Given the description of an element on the screen output the (x, y) to click on. 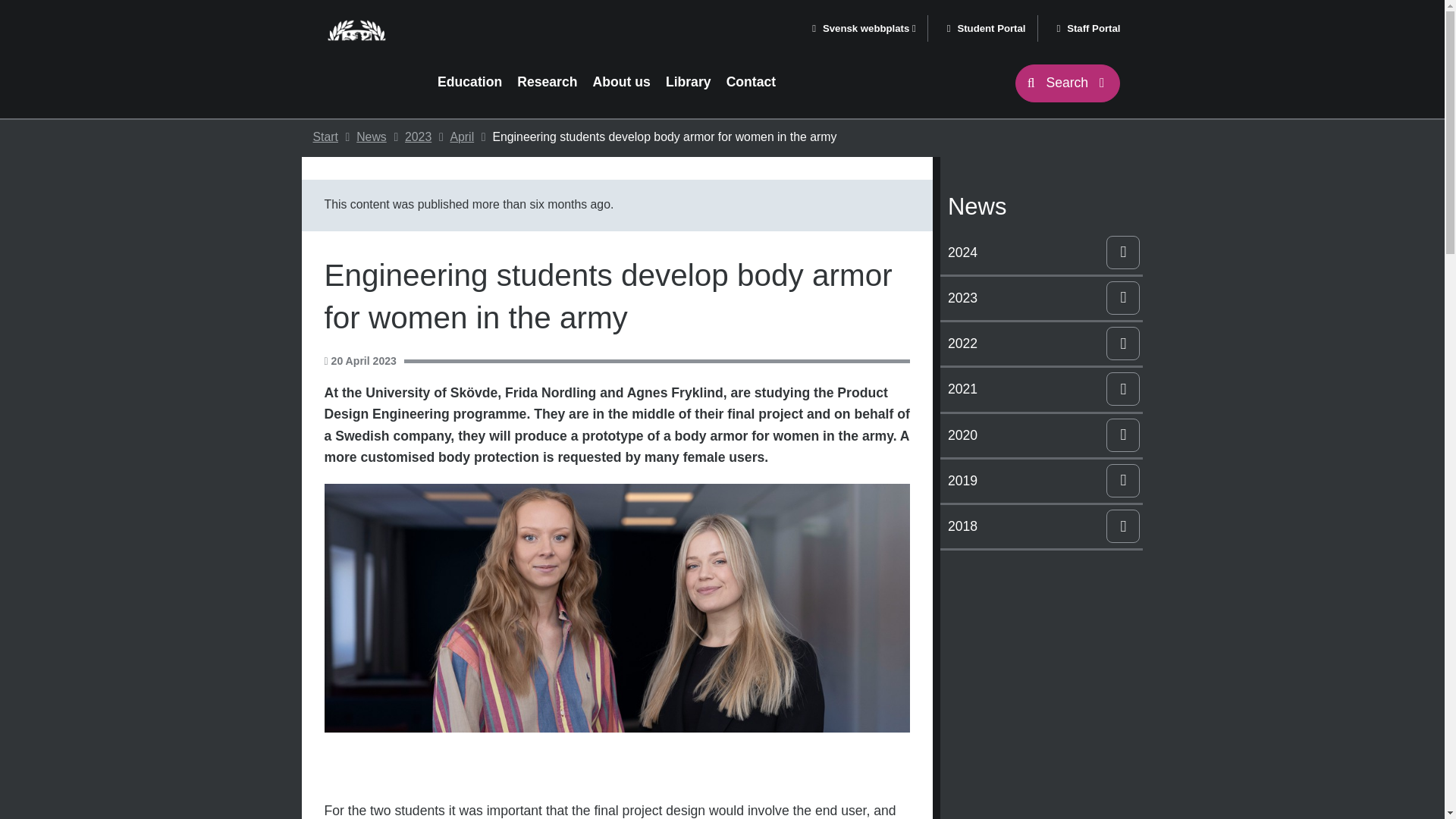
Library (688, 81)
2023 (417, 136)
About us (622, 81)
Staff Portal (1088, 28)
Education (469, 81)
News (371, 136)
Contact (751, 81)
Research (547, 81)
2024 (1023, 248)
